Given the description of an element on the screen output the (x, y) to click on. 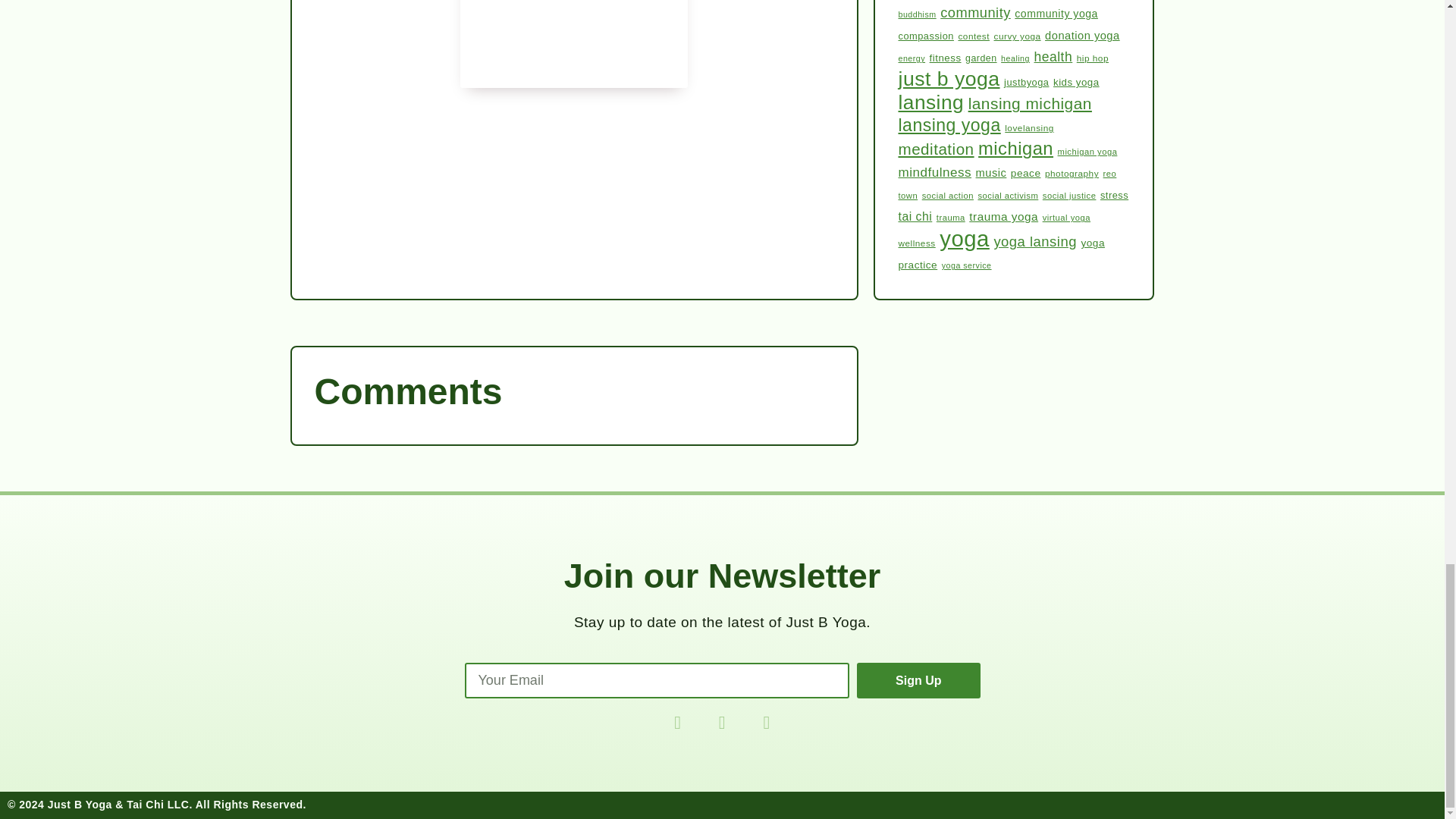
teach plant serve title (573, 43)
